Given the description of an element on the screen output the (x, y) to click on. 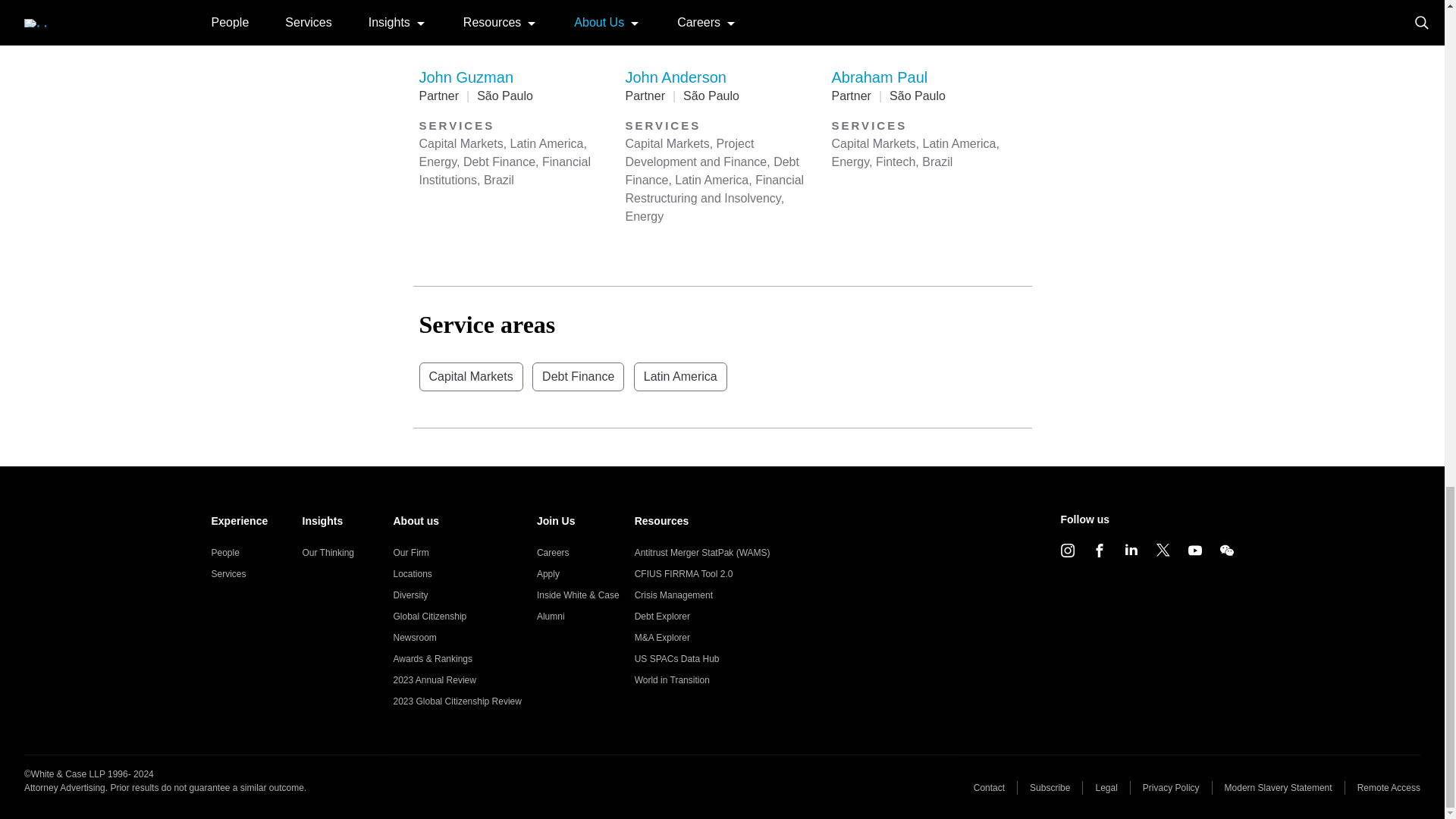
John Guzman (466, 76)
Abraham Paul (879, 76)
John Anderson (674, 76)
